Given the description of an element on the screen output the (x, y) to click on. 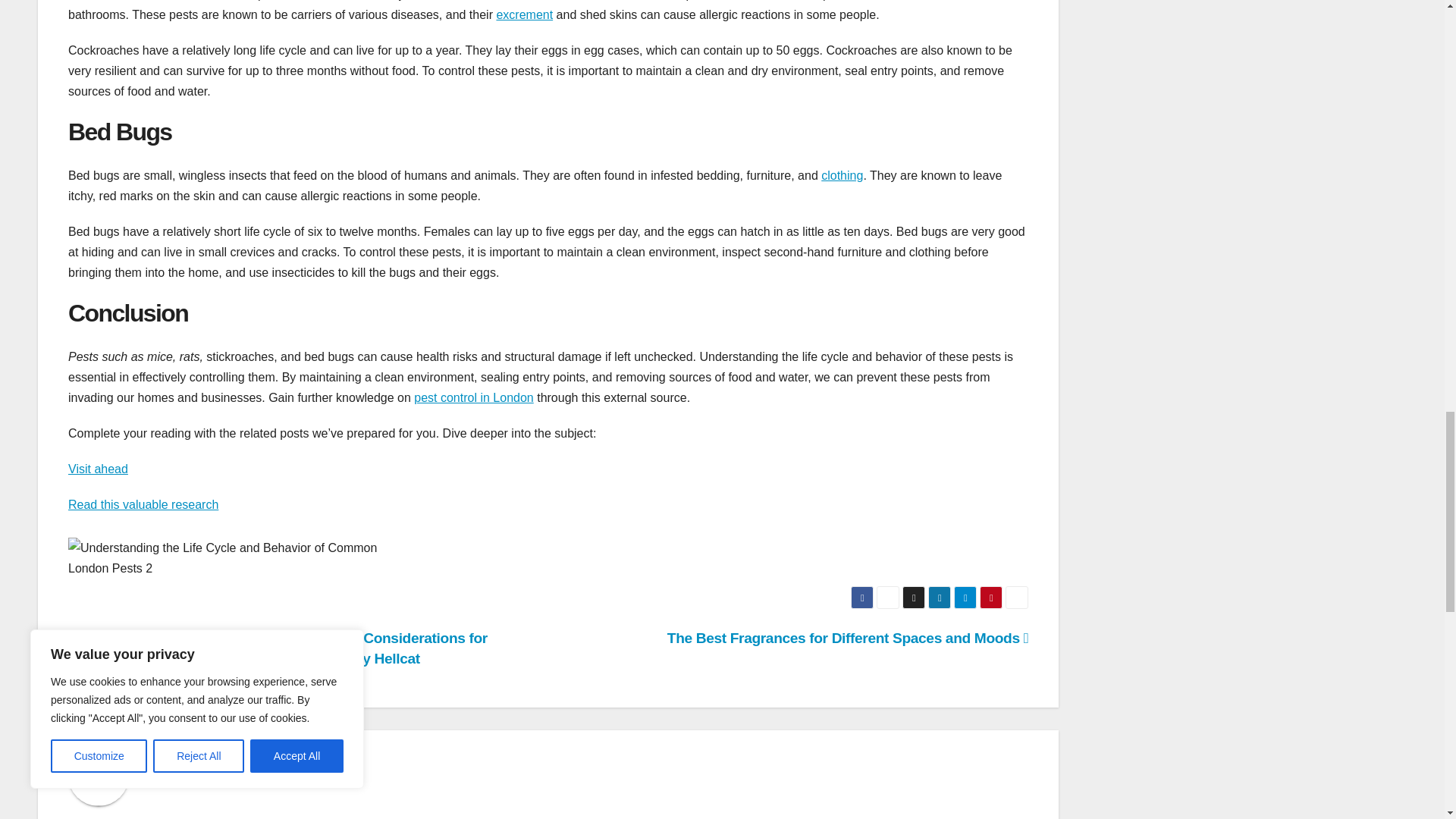
Visit ahead (98, 468)
pest control in London (472, 397)
excrement (524, 14)
clothing (842, 174)
Read this valuable research (143, 504)
